Given the description of an element on the screen output the (x, y) to click on. 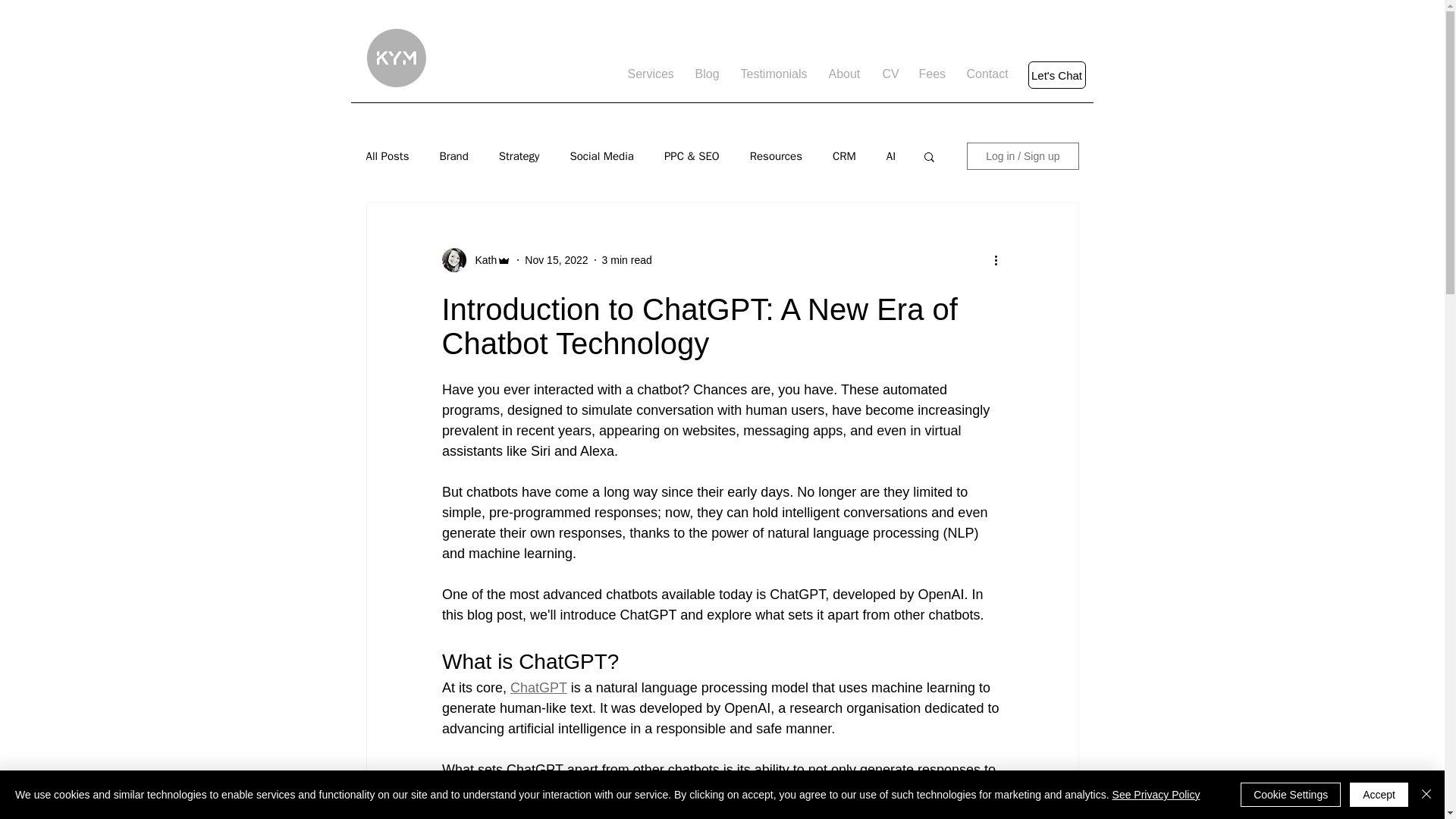
Resources (775, 155)
Brand (453, 155)
Nov 15, 2022 (556, 259)
3 min read (627, 259)
ChatGPT (539, 687)
CRM (844, 155)
Strategy (519, 155)
Social Media (601, 155)
Kath (480, 259)
Testimonials (772, 74)
All Posts (387, 155)
Fees (931, 74)
Blog (706, 74)
CV (888, 74)
About (843, 74)
